Given the description of an element on the screen output the (x, y) to click on. 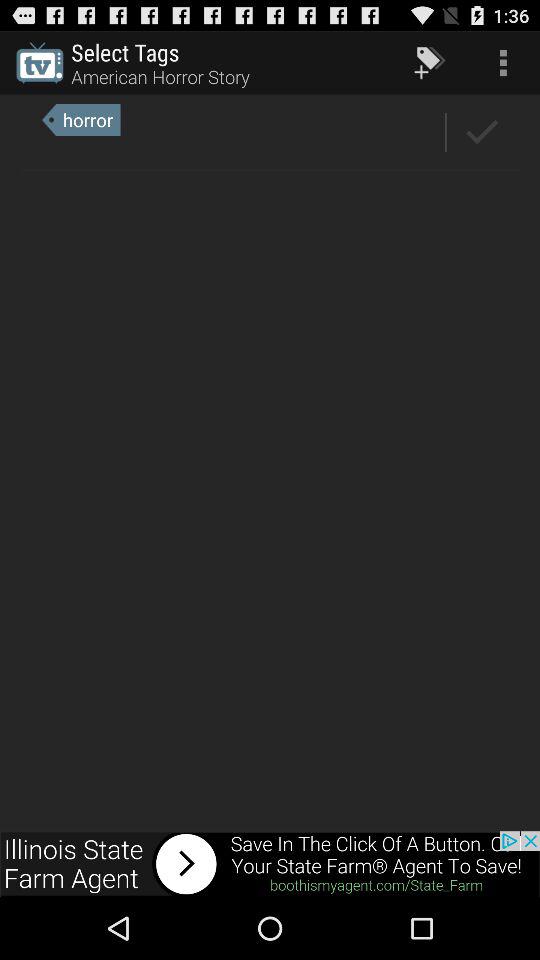
bookmark (481, 132)
